Given the description of an element on the screen output the (x, y) to click on. 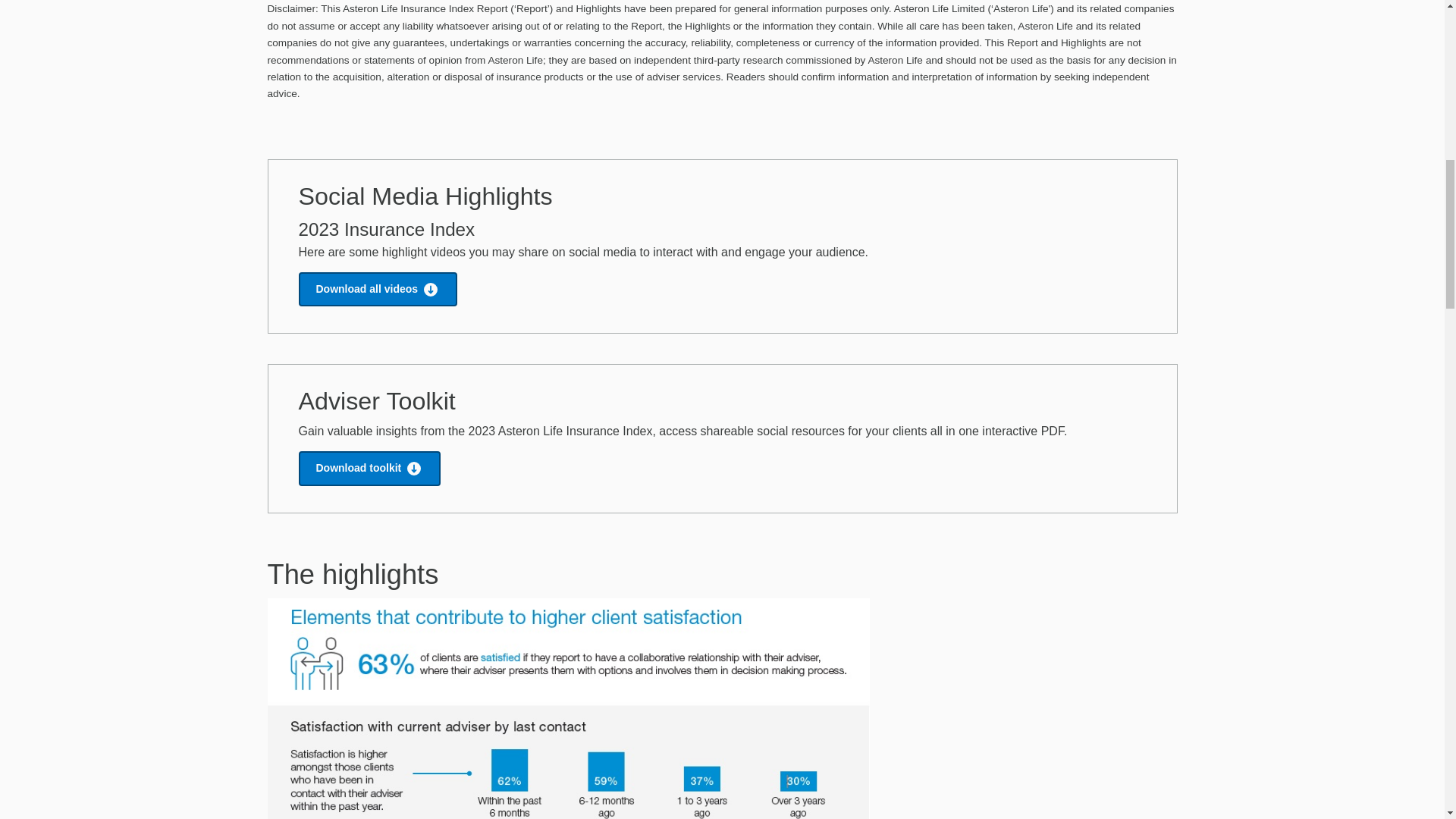
Download all videos (378, 289)
Download toolkit (369, 468)
